Given the description of an element on the screen output the (x, y) to click on. 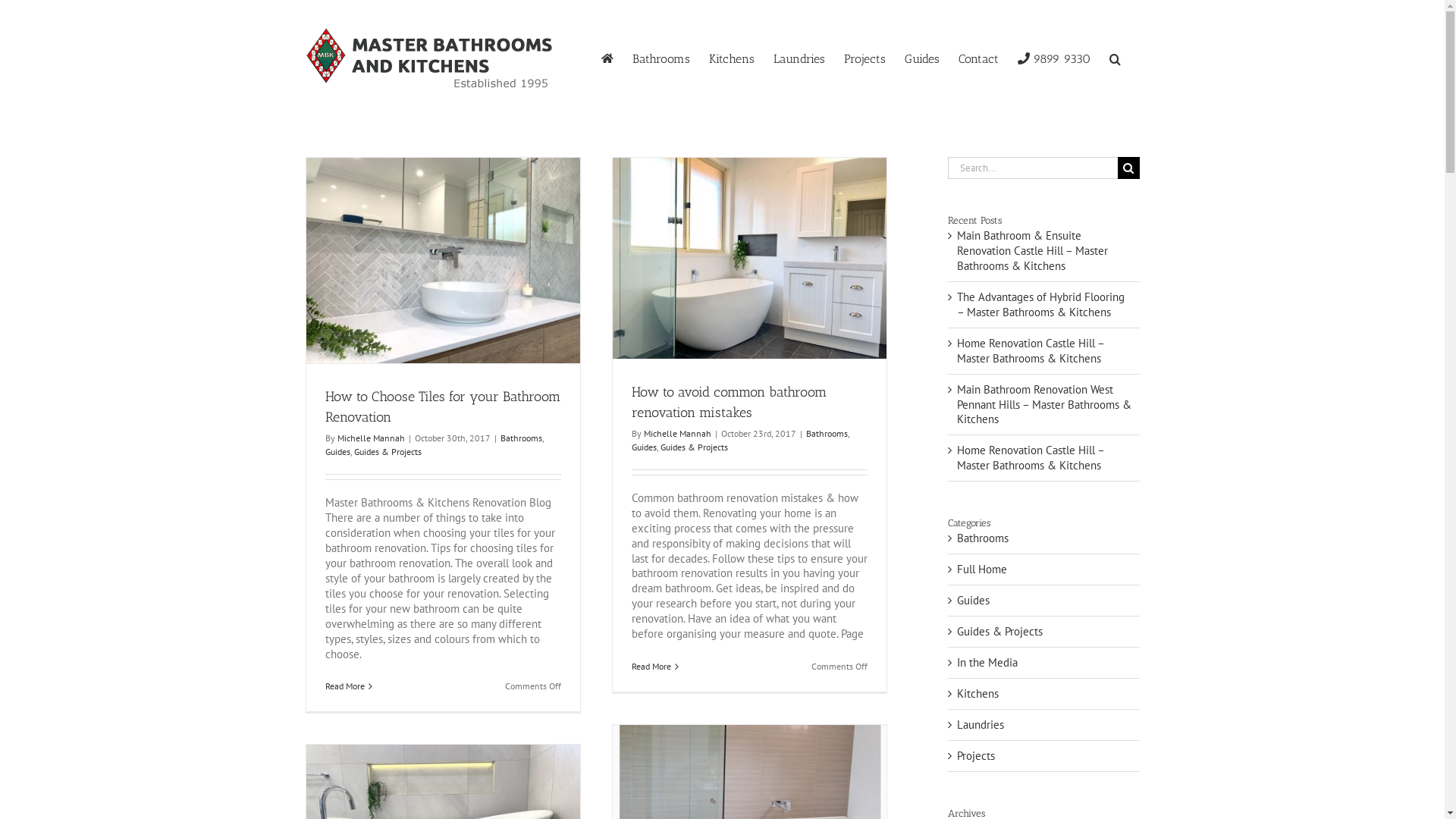
Guides & Projects Element type: text (386, 451)
Bathrooms Element type: text (1044, 538)
Michelle Mannah Element type: text (370, 437)
Bathrooms Element type: text (826, 433)
Laundries Element type: text (799, 57)
Guides Element type: text (1044, 600)
Search Element type: hover (1114, 57)
Kitchens Element type: text (1044, 693)
Bathrooms Element type: text (661, 57)
Contact Element type: text (978, 57)
In the Media Element type: text (1044, 662)
Bathrooms Element type: text (521, 437)
Michelle Mannah Element type: text (676, 433)
Read More Element type: text (650, 665)
Projects Element type: text (1044, 755)
9899 9330 Element type: text (1053, 57)
Guides & Projects Element type: text (1044, 631)
Read More Element type: text (344, 685)
Full Home Element type: text (1044, 569)
Guides Element type: text (336, 451)
Guides Element type: text (920, 57)
How to Choose Tiles for your Bathroom Renovation Element type: text (441, 406)
How to avoid common bathroom renovation mistakes Element type: text (727, 401)
Kitchens Element type: text (730, 57)
Guides Element type: text (642, 446)
Guides & Projects Element type: text (693, 446)
Laundries Element type: text (1044, 724)
Projects Element type: text (863, 57)
